Given the description of an element on the screen output the (x, y) to click on. 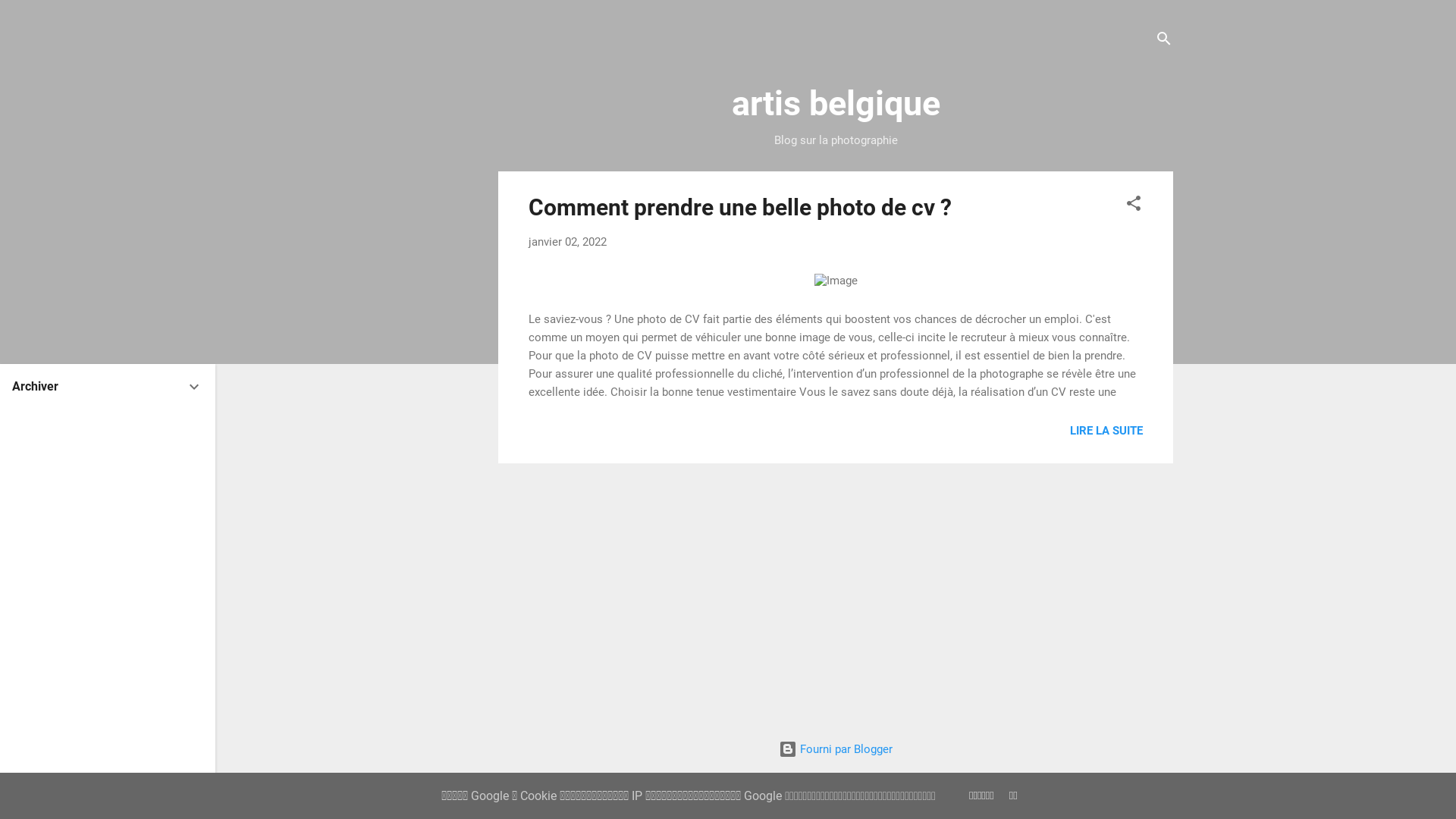
Rechercher Element type: text (42, 18)
janvier 02, 2022 Element type: text (567, 241)
Michael Elkan Element type: text (876, 779)
Comment prendre une belle photo de cv ? Element type: text (739, 207)
Fourni par Blogger Element type: text (835, 749)
LIRE LA SUITE Element type: text (1106, 430)
